Given the description of an element on the screen output the (x, y) to click on. 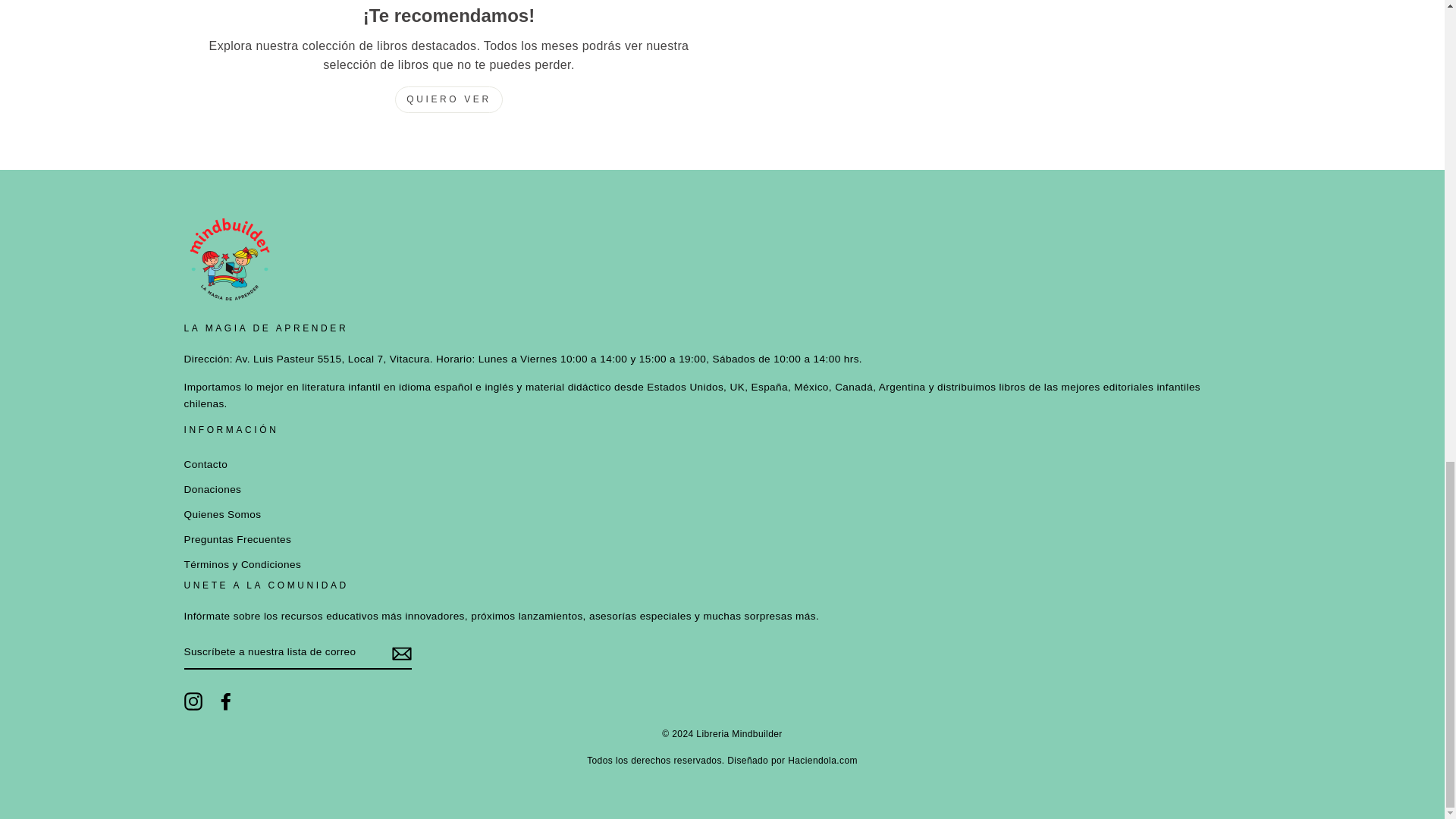
Libreria Mindbuilder  en Facebook (822, 760)
Libreria Mindbuilder  en Instagram (225, 701)
